Given the description of an element on the screen output the (x, y) to click on. 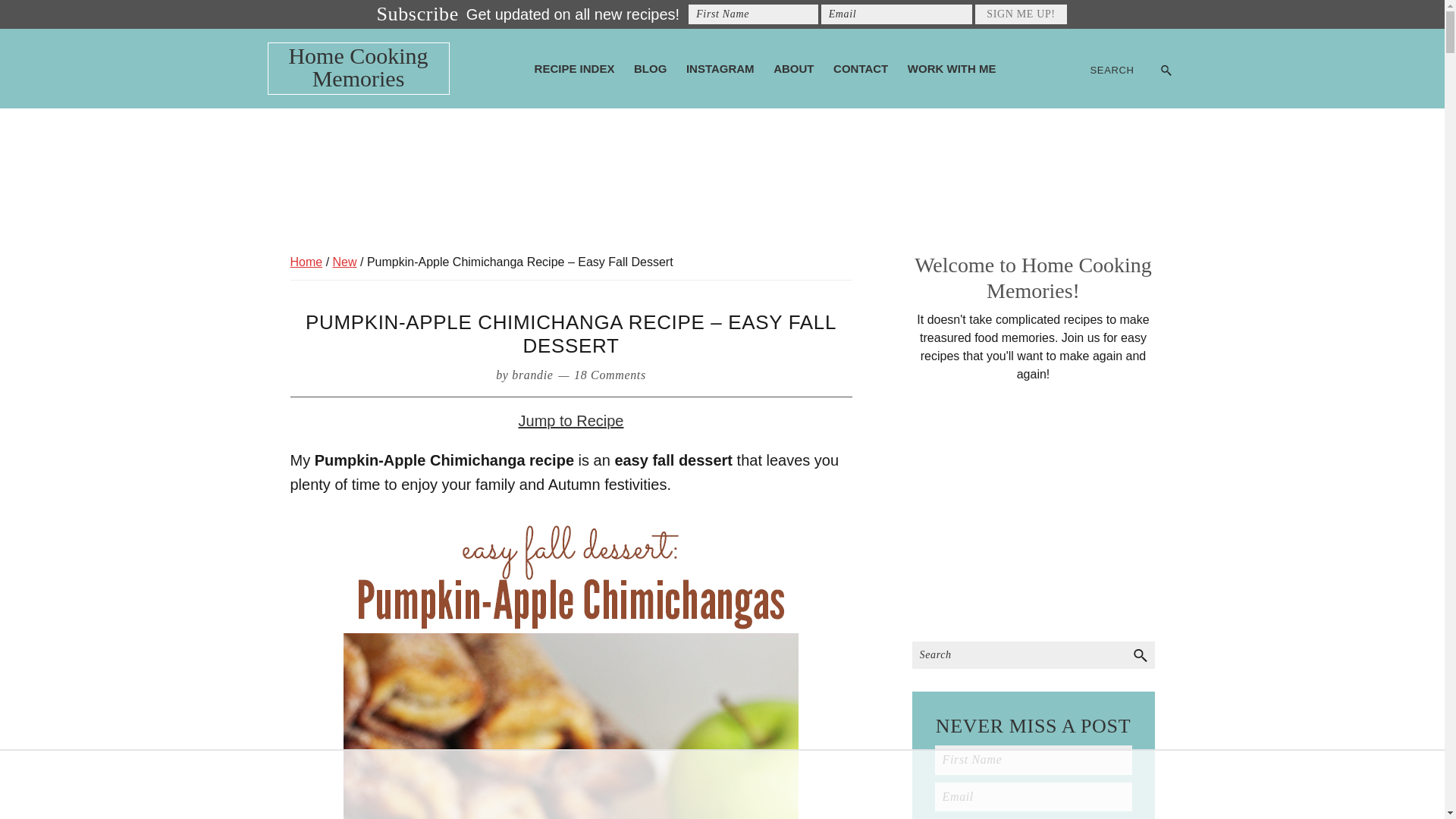
SIGN ME UP! (1020, 14)
BLOG (650, 68)
Jump to Recipe (571, 420)
WORK WITH ME (951, 68)
CONTACT (860, 68)
brandie (532, 374)
18 Comments (609, 374)
Home Cooking Memories (358, 66)
INSTAGRAM (719, 68)
